Given the description of an element on the screen output the (x, y) to click on. 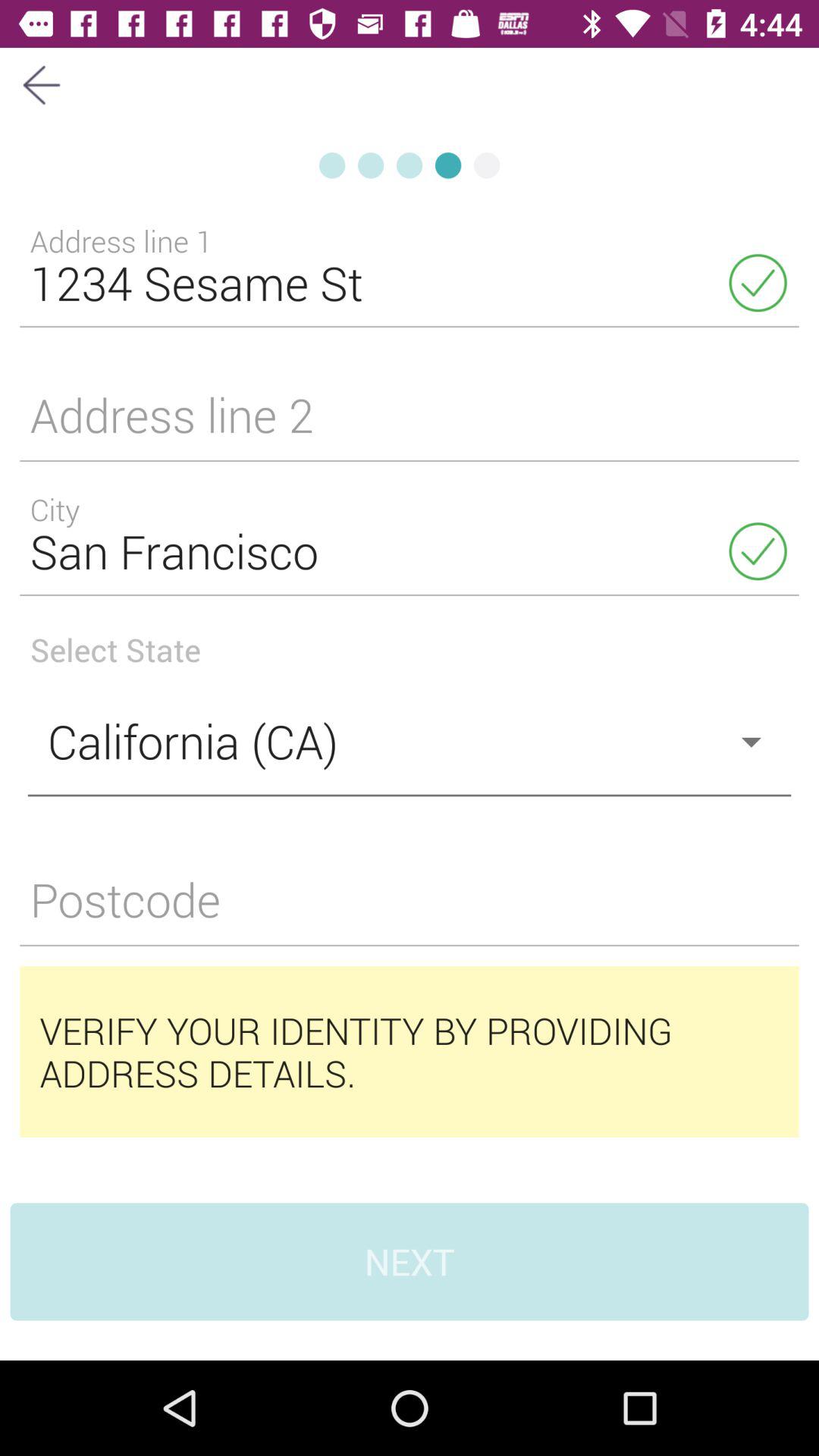
add address line 2 (409, 423)
